Given the description of an element on the screen output the (x, y) to click on. 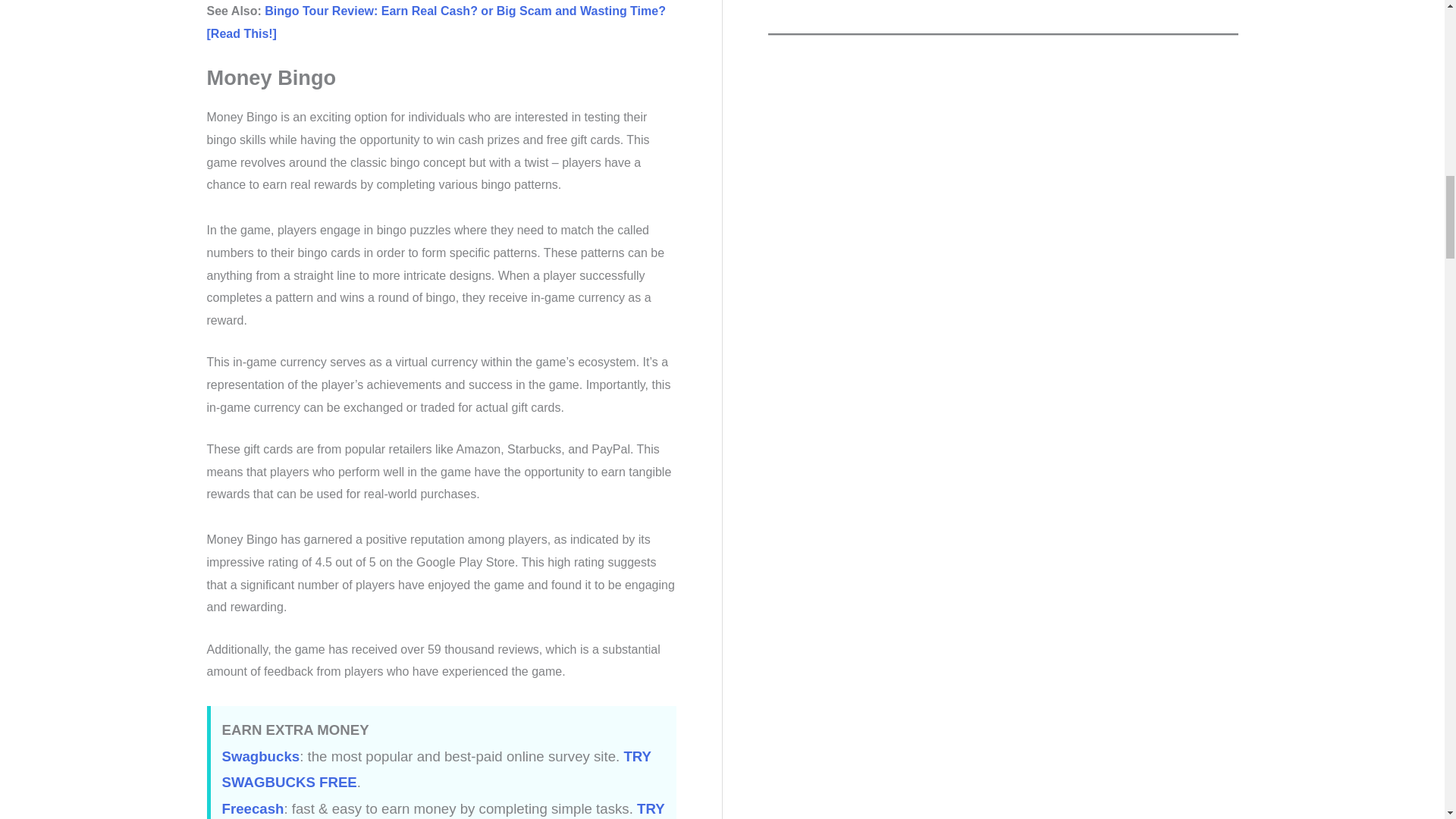
TRY FREECASH FREE (442, 809)
Swagbucks (260, 756)
Freecash (252, 808)
TRY SWAGBUCKS FREE (435, 769)
